Given the description of an element on the screen output the (x, y) to click on. 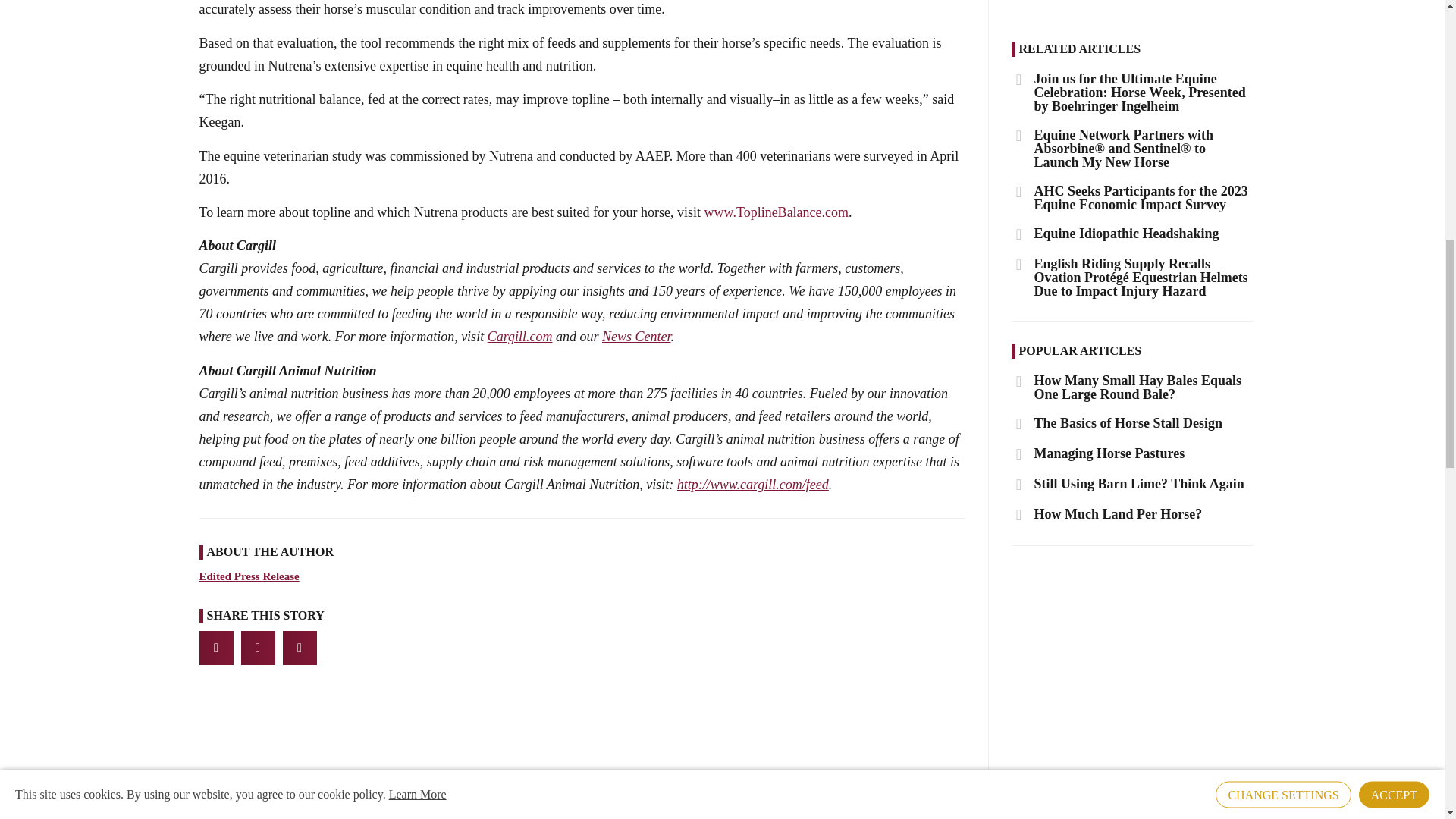
3rd party ad content (1132, 663)
3rd party ad content (1132, 6)
